Given the description of an element on the screen output the (x, y) to click on. 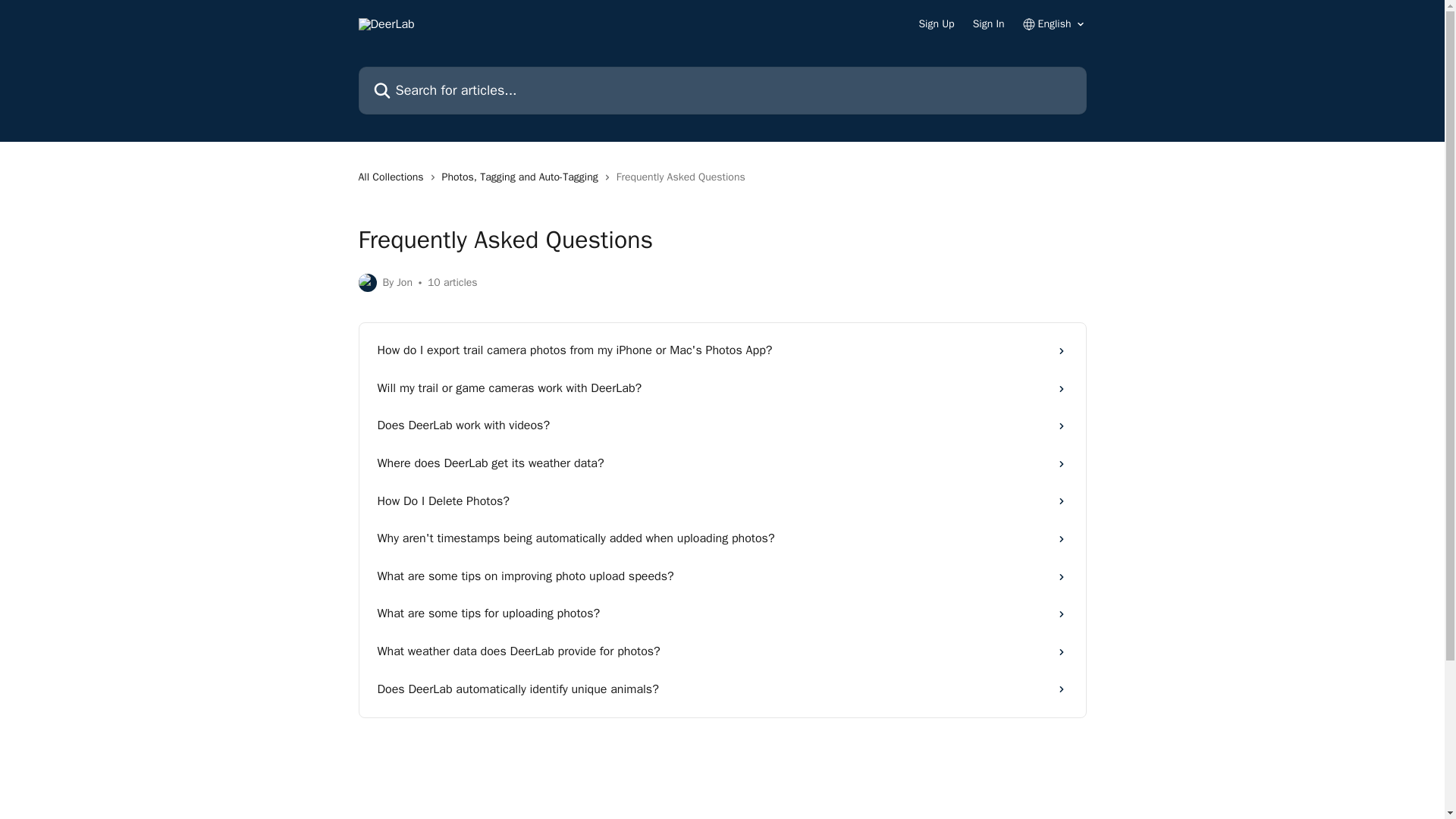
All Collections (393, 176)
What are some tips for uploading photos? (722, 614)
Sign Up (935, 23)
Does DeerLab work with videos? (722, 426)
Sign In (988, 23)
Will my trail or game cameras work with DeerLab? (722, 388)
What weather data does DeerLab provide for photos? (722, 651)
Photos, Tagging and Auto-Tagging (523, 176)
How Do I Delete Photos? (722, 501)
Does DeerLab automatically identify unique animals? (722, 689)
Where does DeerLab get its weather data? (722, 464)
What are some tips on improving photo upload speeds? (722, 576)
